Given the description of an element on the screen output the (x, y) to click on. 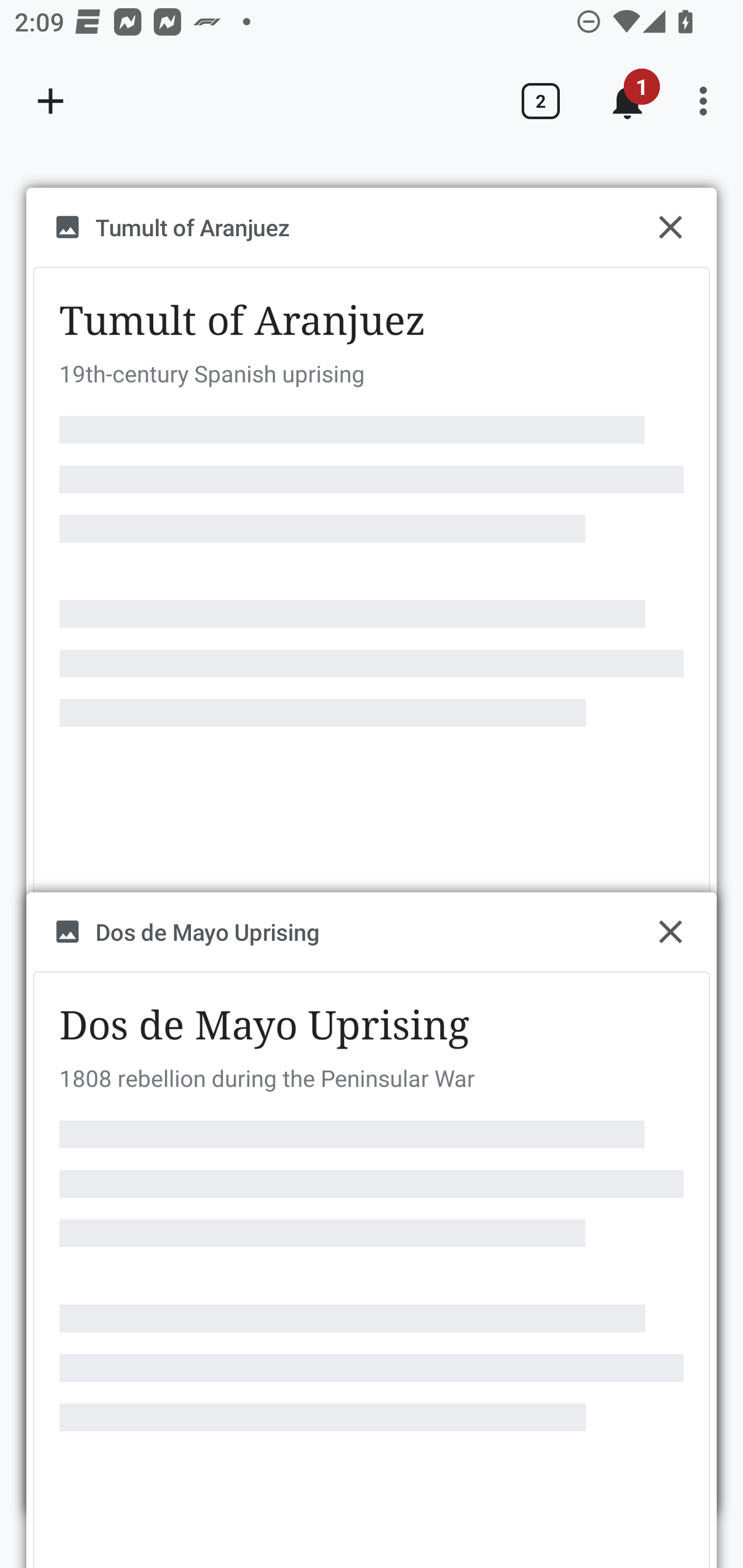
Back 2 (540, 100)
Notifications 1 (626, 100)
New tab (50, 101)
More options (706, 101)
